Given the description of an element on the screen output the (x, y) to click on. 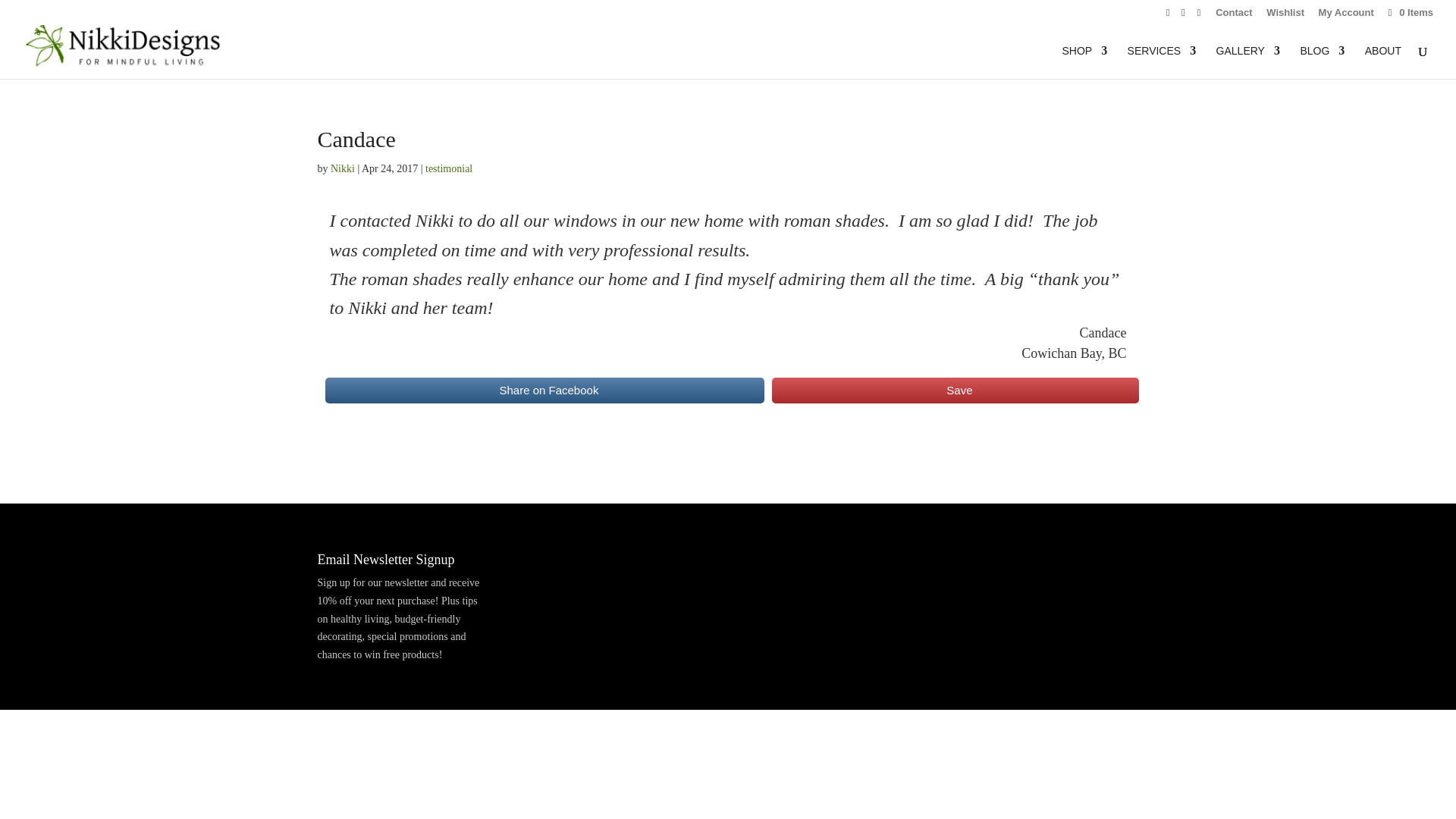
SHOP (1083, 61)
0 Items (1409, 12)
SERVICES (1161, 61)
GALLERY (1247, 61)
Wishlist (1285, 16)
Posts by Nikki (342, 168)
My Account (1346, 16)
Contact (1233, 16)
